Given the description of an element on the screen output the (x, y) to click on. 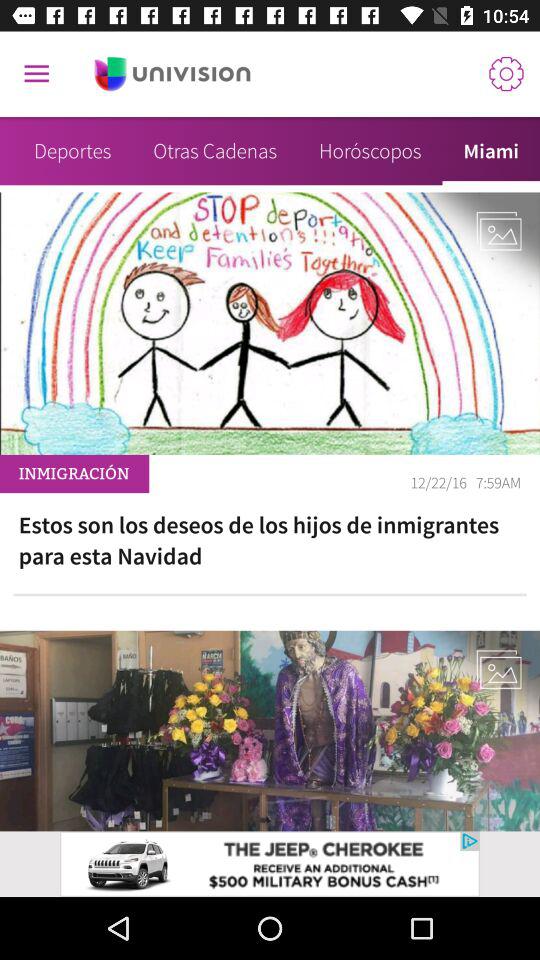
adverdisement page (270, 864)
